Given the description of an element on the screen output the (x, y) to click on. 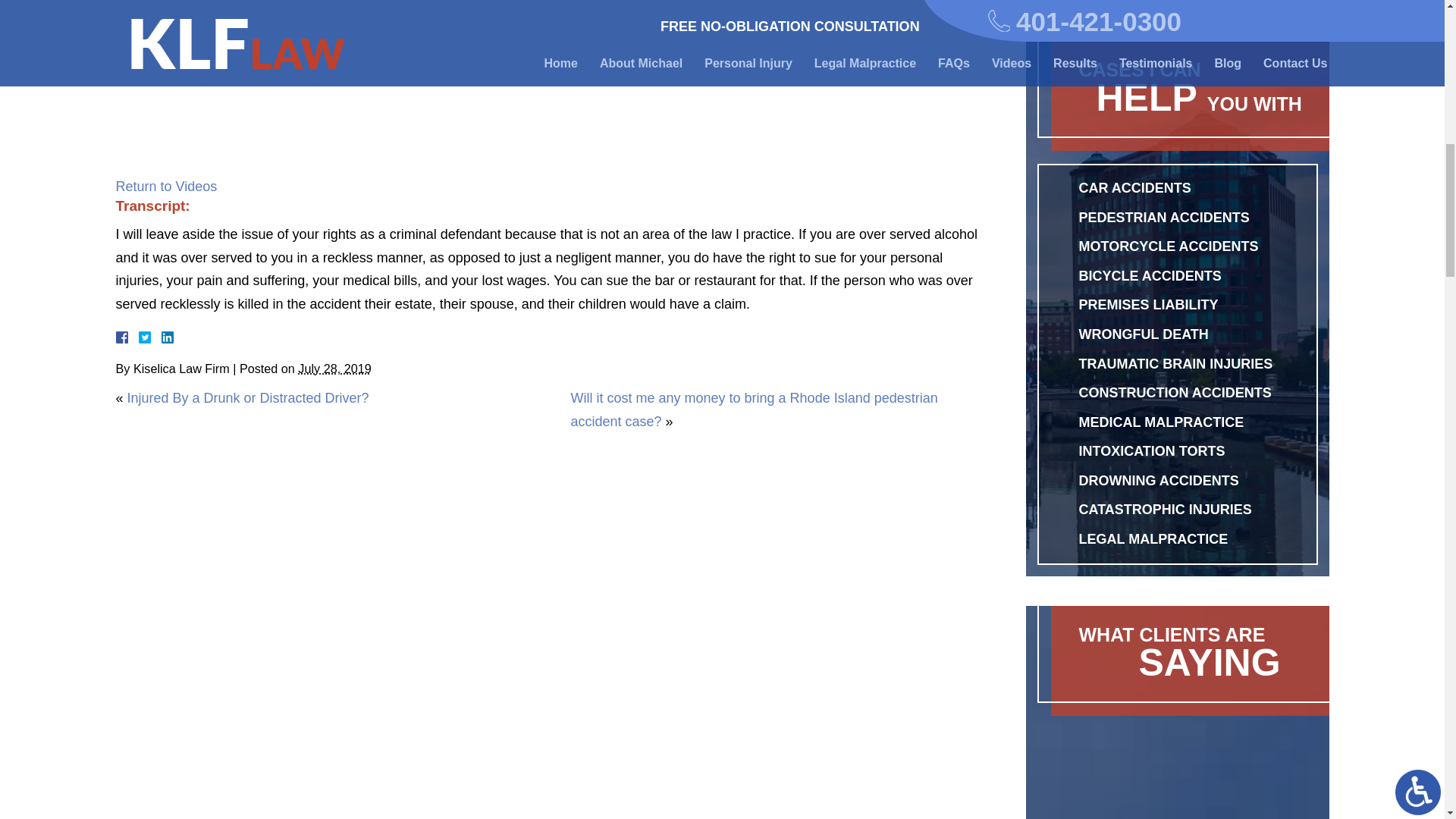
2019-07-28T09:13:39-0700 (334, 368)
LinkedIn (160, 337)
Facebook (139, 337)
Twitter (149, 337)
